Given the description of an element on the screen output the (x, y) to click on. 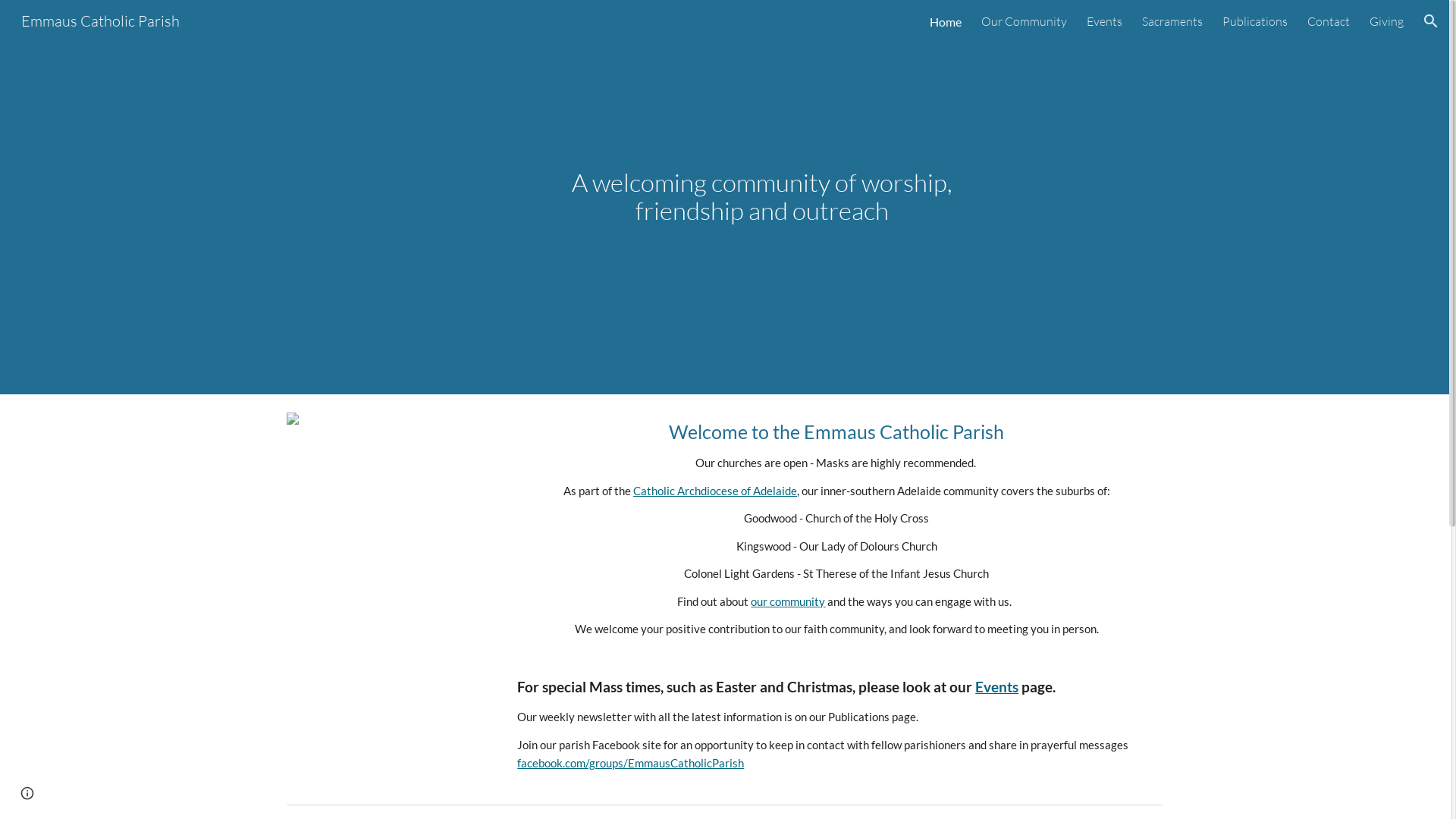
Emmaus Catholic Parish Element type: text (100, 18)
facebook.com/groups/EmmausCatholicParish Element type: text (630, 762)
Events Element type: text (996, 686)
Contact Element type: text (1328, 20)
Our Community Element type: text (1023, 20)
Home Element type: text (945, 20)
Giving Element type: text (1386, 20)
Events Element type: text (1104, 20)
Catholic Archdiocese of Adelaide Element type: text (715, 490)
our community Element type: text (787, 601)
Sacraments Element type: text (1172, 20)
Publications Element type: text (1254, 20)
